Given the description of an element on the screen output the (x, y) to click on. 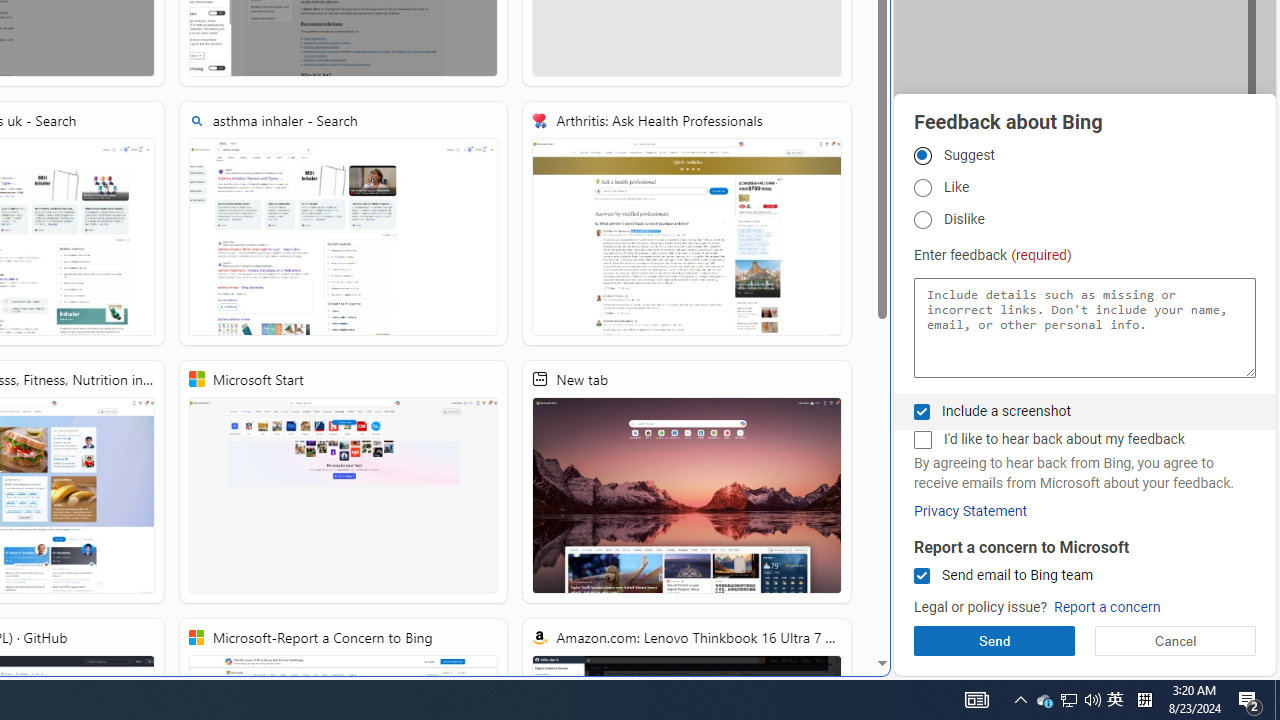
I'd like to hear back about my feedback (922, 440)
